Given the description of an element on the screen output the (x, y) to click on. 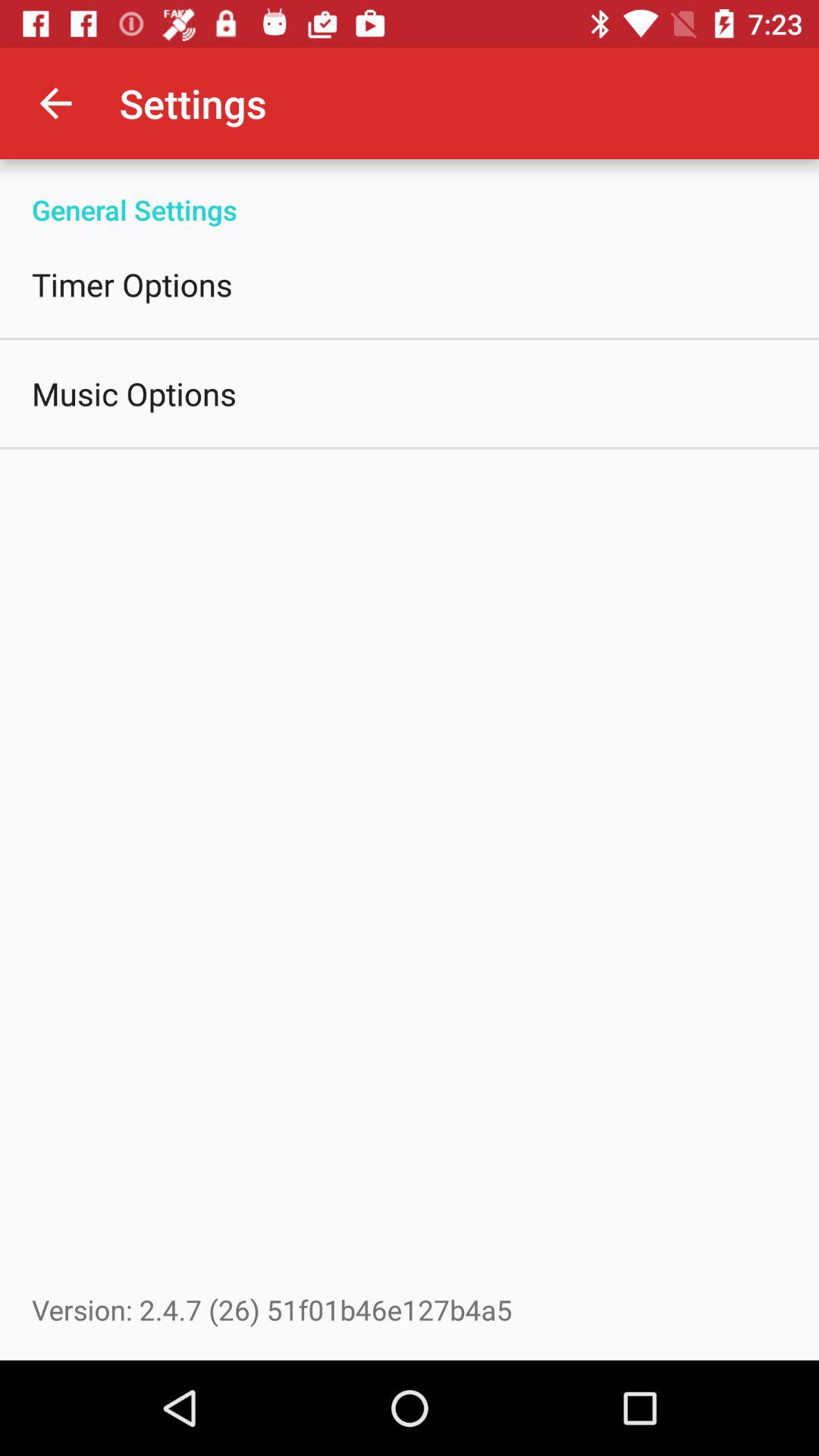
select the icon above music options icon (131, 283)
